Given the description of an element on the screen output the (x, y) to click on. 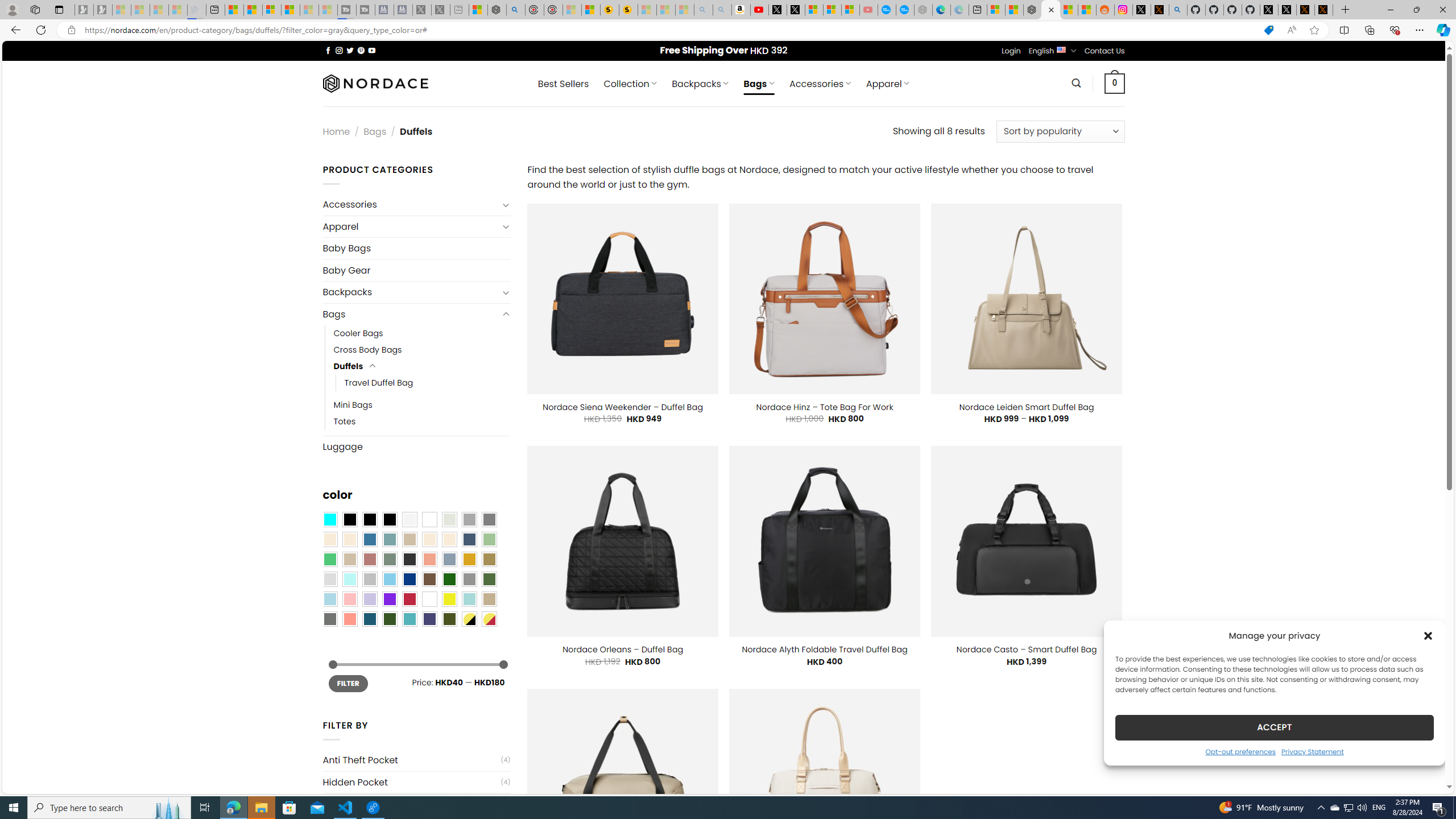
Luggage (416, 445)
Silver (369, 579)
Aqua Blue (329, 519)
Dark Gray (468, 519)
All Gray (488, 519)
github - Search (1178, 9)
Nordace - Best Sellers (1032, 9)
Kelp (488, 559)
